Given the description of an element on the screen output the (x, y) to click on. 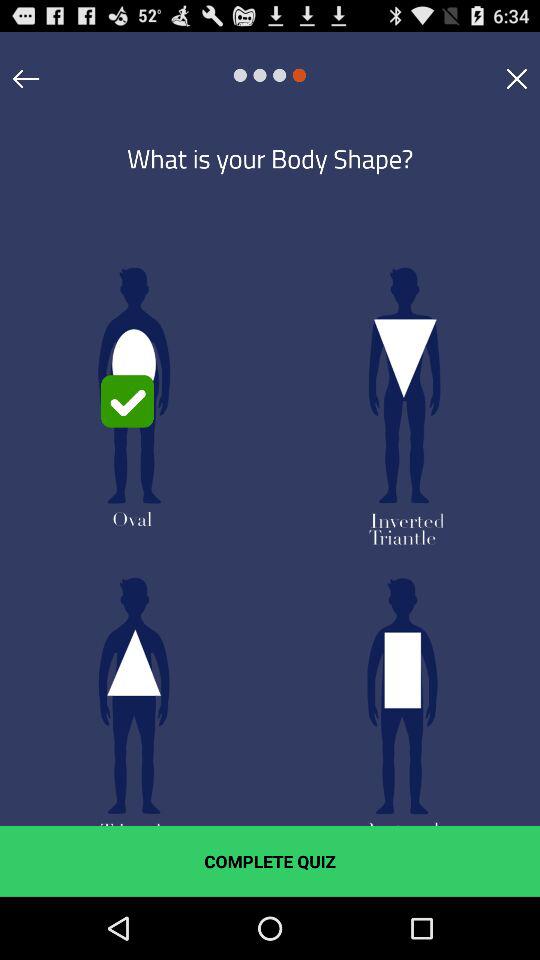
go back button (26, 78)
